Given the description of an element on the screen output the (x, y) to click on. 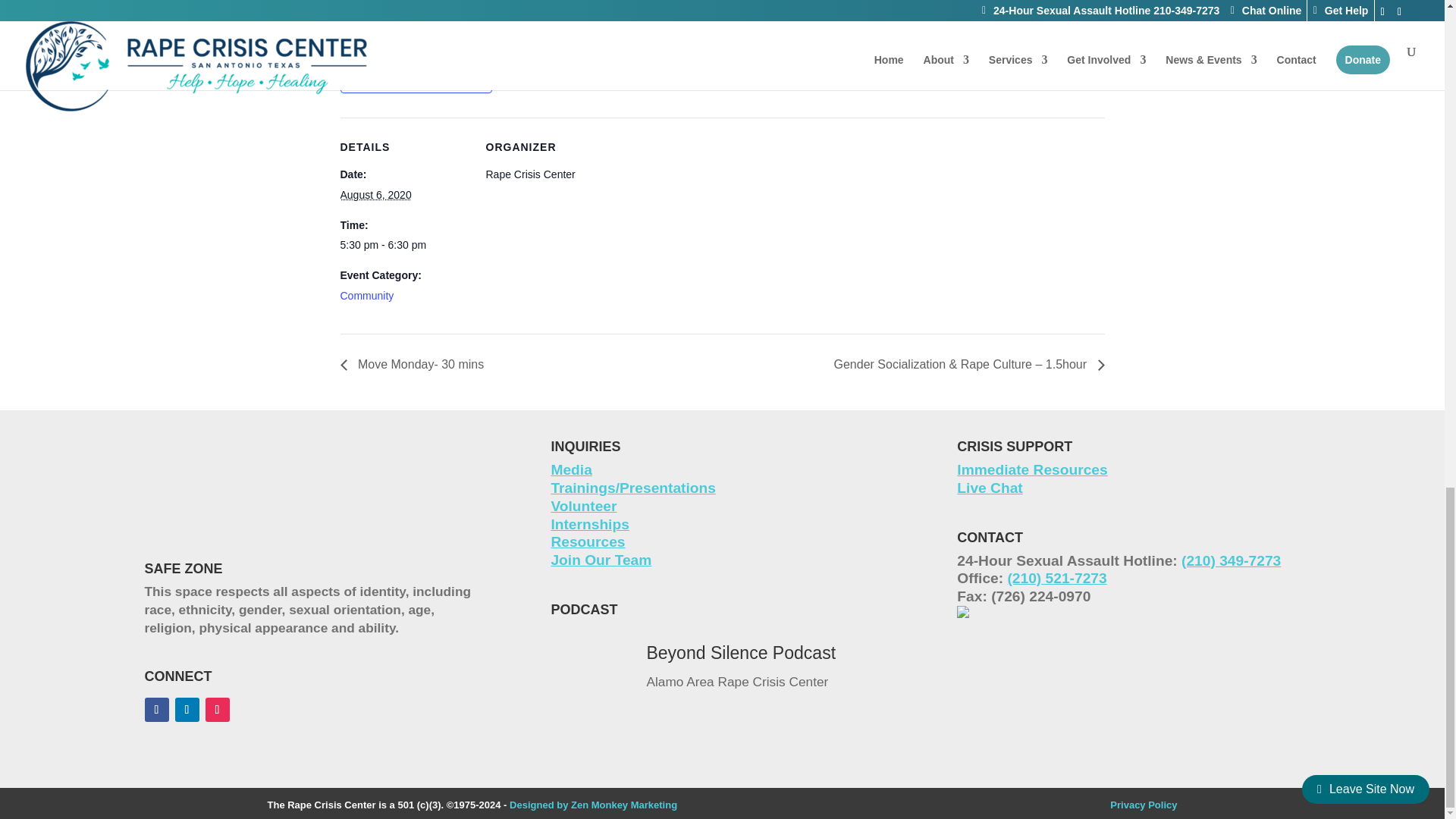
Follow on Facebook (156, 709)
Follow on Instagram (216, 709)
2020-08-06 (403, 245)
2020-08-06 (374, 194)
Follow on LinkedIn (186, 709)
